Given the description of an element on the screen output the (x, y) to click on. 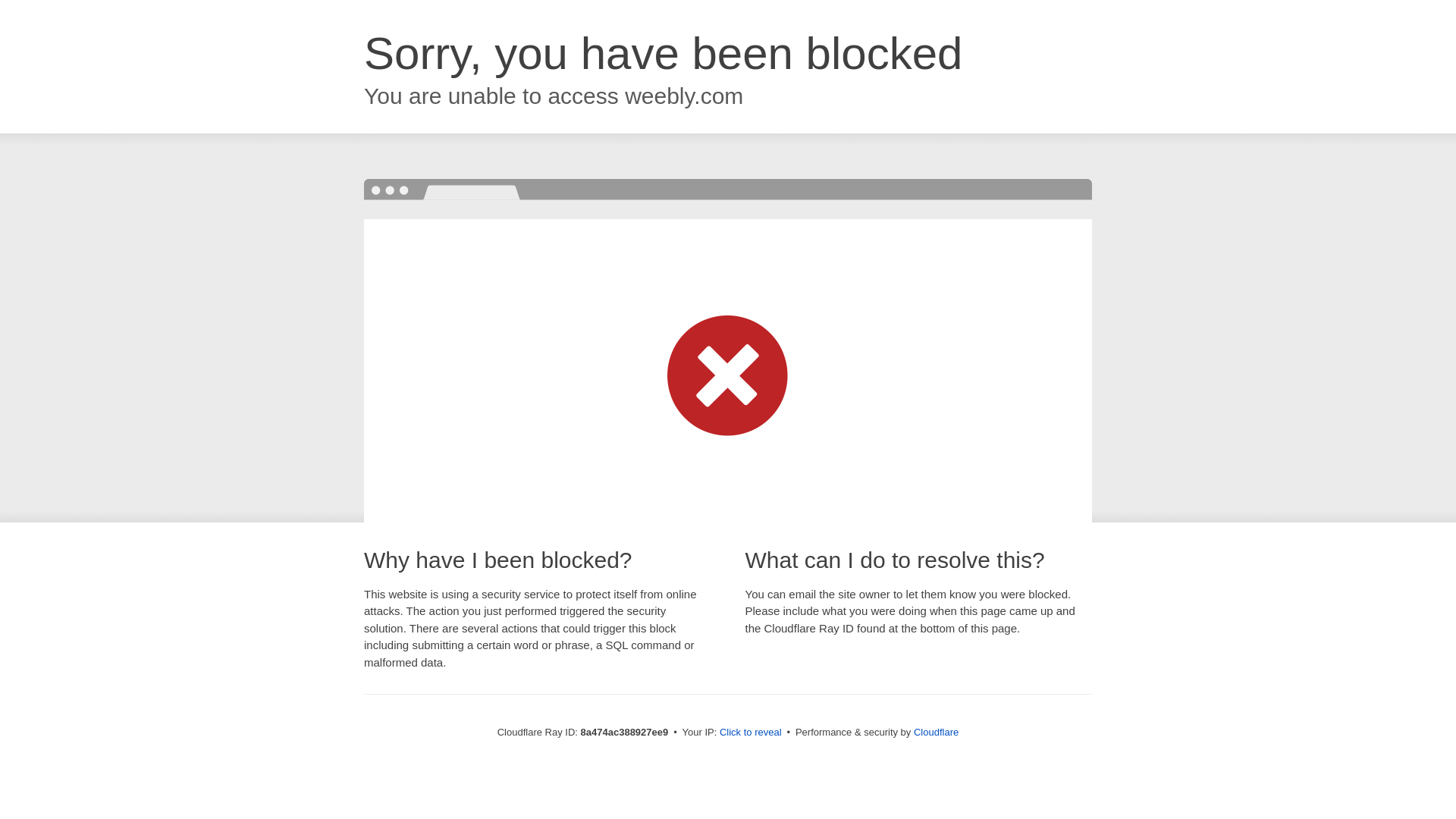
Click to reveal (750, 732)
Cloudflare (936, 731)
